Given the description of an element on the screen output the (x, y) to click on. 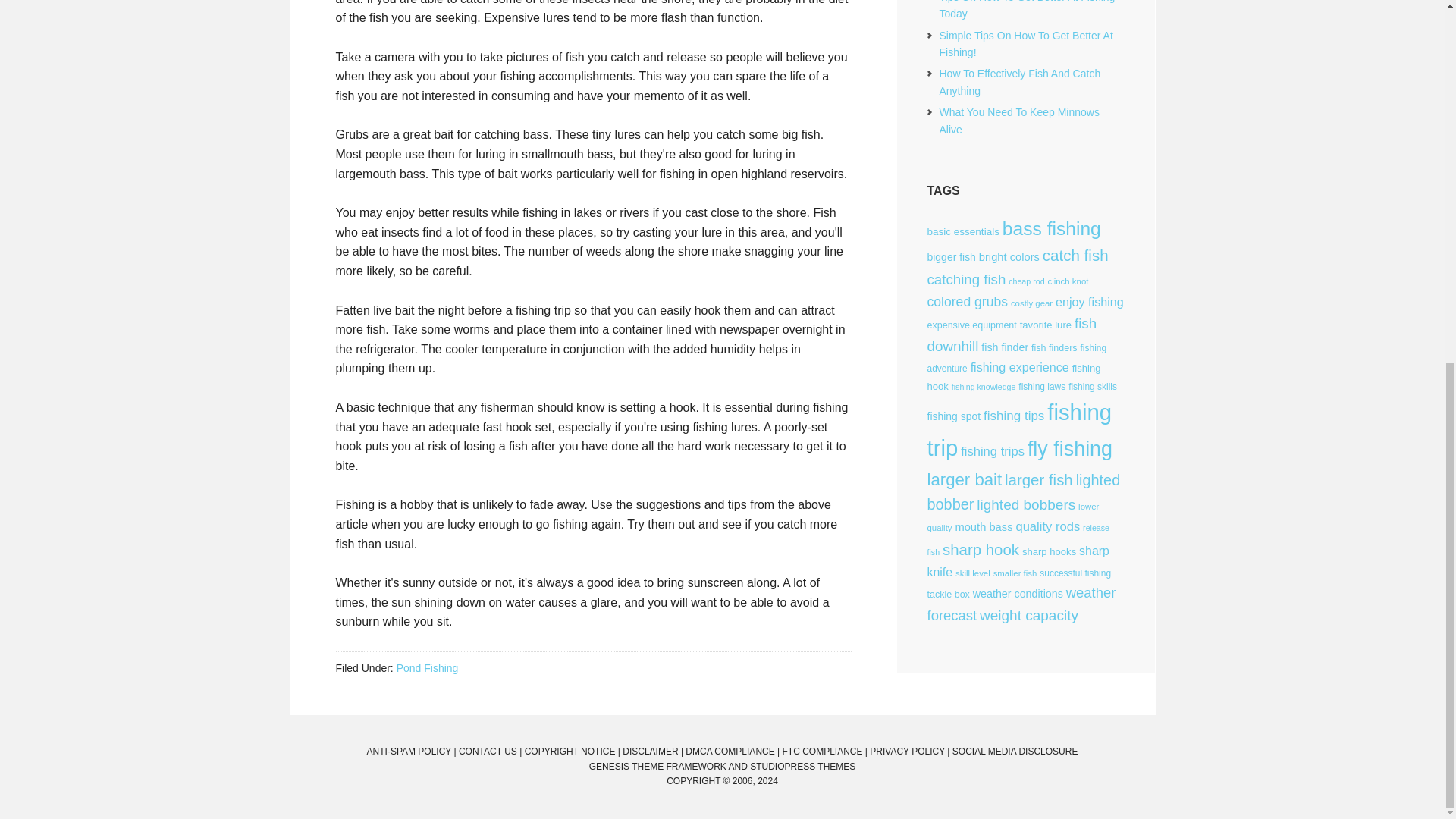
Pond Fishing (427, 667)
Tips On How To Get Better At Fishing Today (1027, 9)
enjoy fishing (1089, 301)
favorite lure (1045, 324)
cheap rod (1026, 280)
bass fishing (1051, 228)
fishing experience (1019, 366)
What You Need To Keep Minnows Alive (1019, 120)
bright colors (1008, 256)
bigger fish (950, 256)
catch fish (1075, 254)
Simple Tips On How To Get Better At Fishing! (1025, 43)
catching fish (966, 279)
fishing knowledge (984, 386)
fishing adventure (1016, 358)
